Given the description of an element on the screen output the (x, y) to click on. 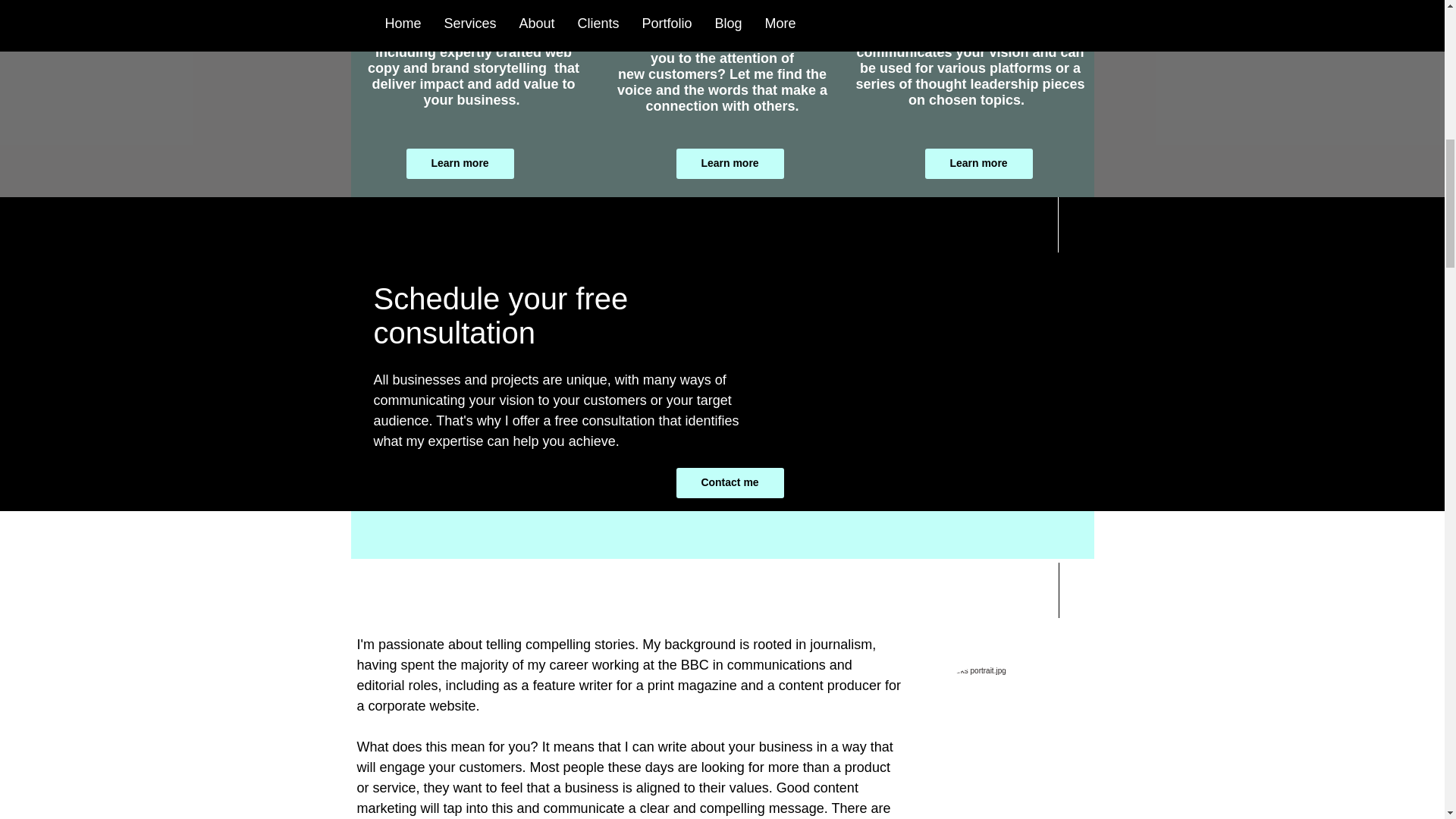
Learn more (978, 163)
Learn more (459, 163)
Learn more (730, 163)
Contact me (730, 482)
